Given the description of an element on the screen output the (x, y) to click on. 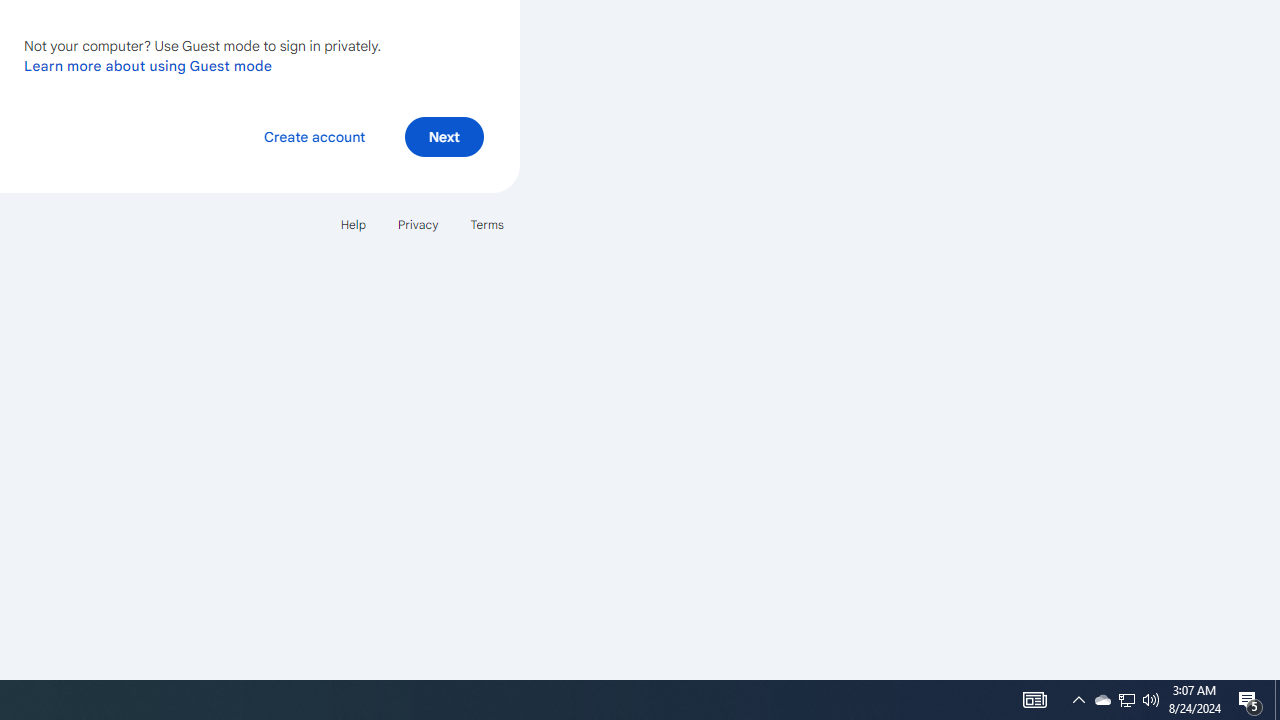
Learn more about using Guest mode (148, 65)
Create account (314, 135)
